Given the description of an element on the screen output the (x, y) to click on. 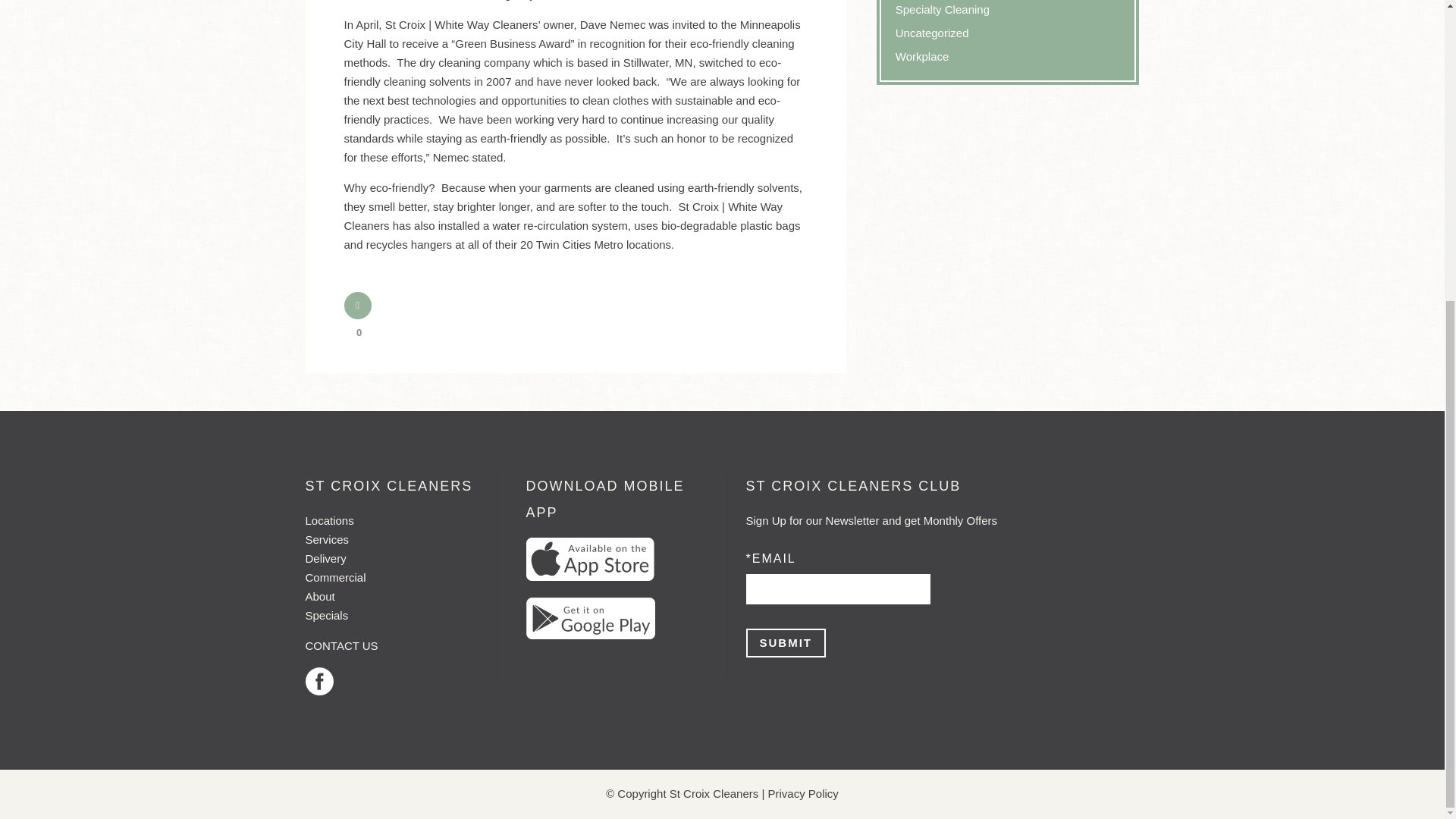
Workplace (922, 56)
Uncategorized (932, 32)
Submit (786, 642)
Specialty Cleaning (942, 9)
